Given the description of an element on the screen output the (x, y) to click on. 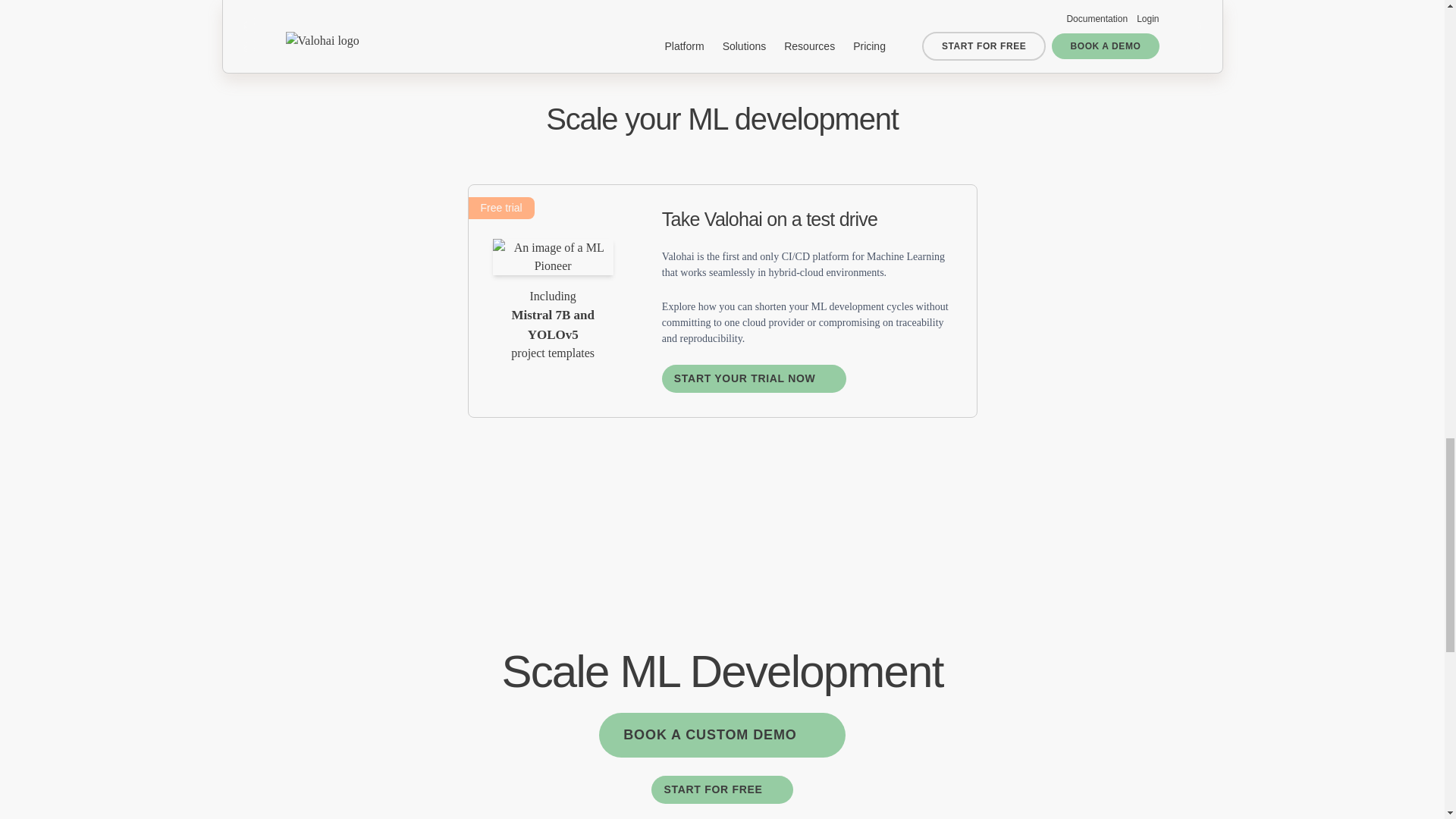
START YOUR TRIAL NOW (753, 378)
BOOK A CUSTOM DEMO (721, 734)
START FOR FREE (721, 789)
